Given the description of an element on the screen output the (x, y) to click on. 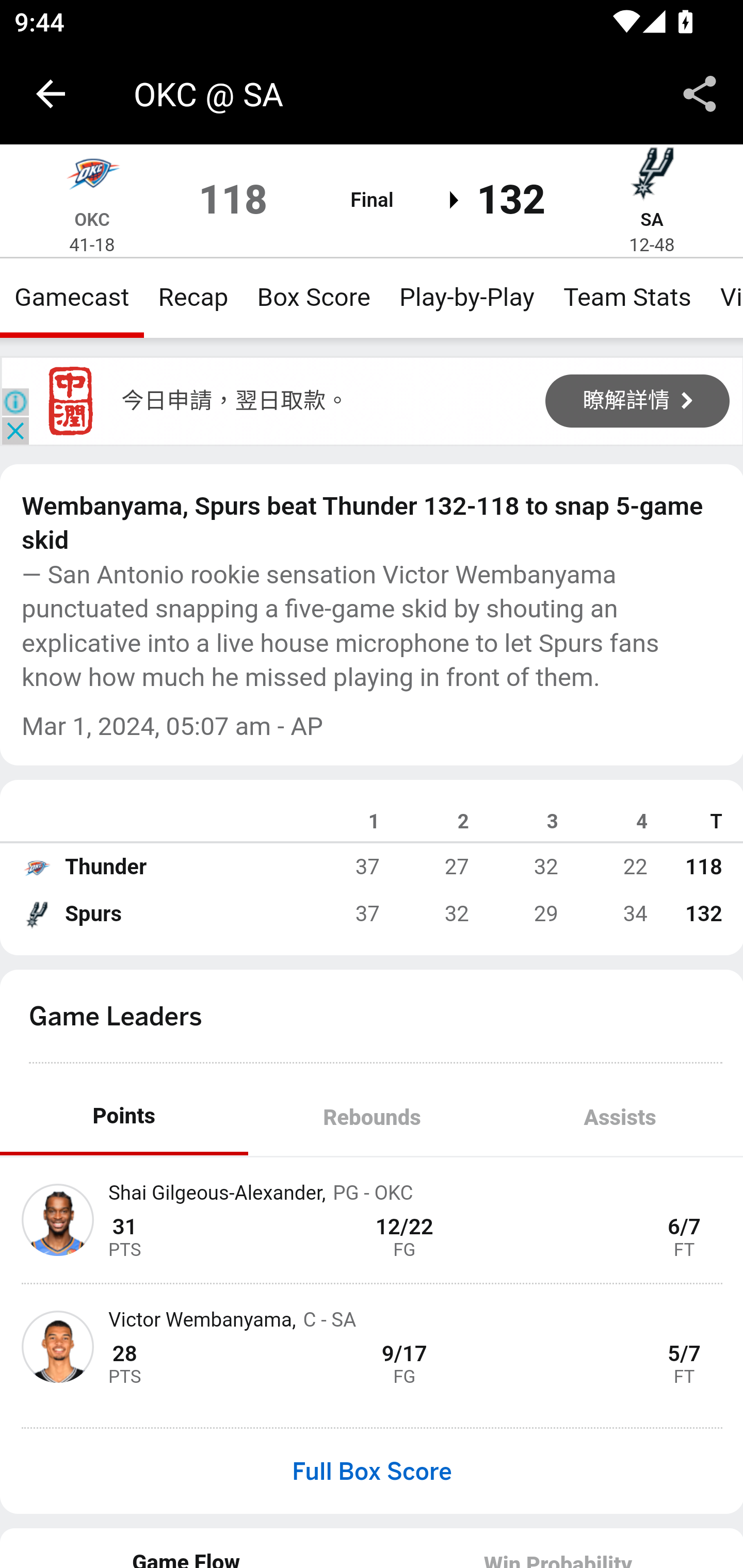
Navigate up (50, 93)
Share (699, 93)
Oklahoma City Thunder (91, 177)
San Antonio Spurs (651, 177)
OKC (91, 219)
SA (651, 219)
Gamecast (72, 296)
Recap (192, 296)
Box Score (314, 296)
Play-by-Play (466, 296)
Team Stats (627, 296)
中潤 - 租置公屋貸款服務 (71, 401)
瞭解詳情 (638, 400)
今日申請，翌日取款。 (235, 400)
Oklahoma City Thunder (36, 866)
San Antonio Spurs (36, 913)
Points (124, 1116)
Rebounds (371, 1116)
Assists (618, 1116)
Full Box Score (371, 1471)
Game Flow (186, 1547)
Win Probability (557, 1547)
